Given the description of an element on the screen output the (x, y) to click on. 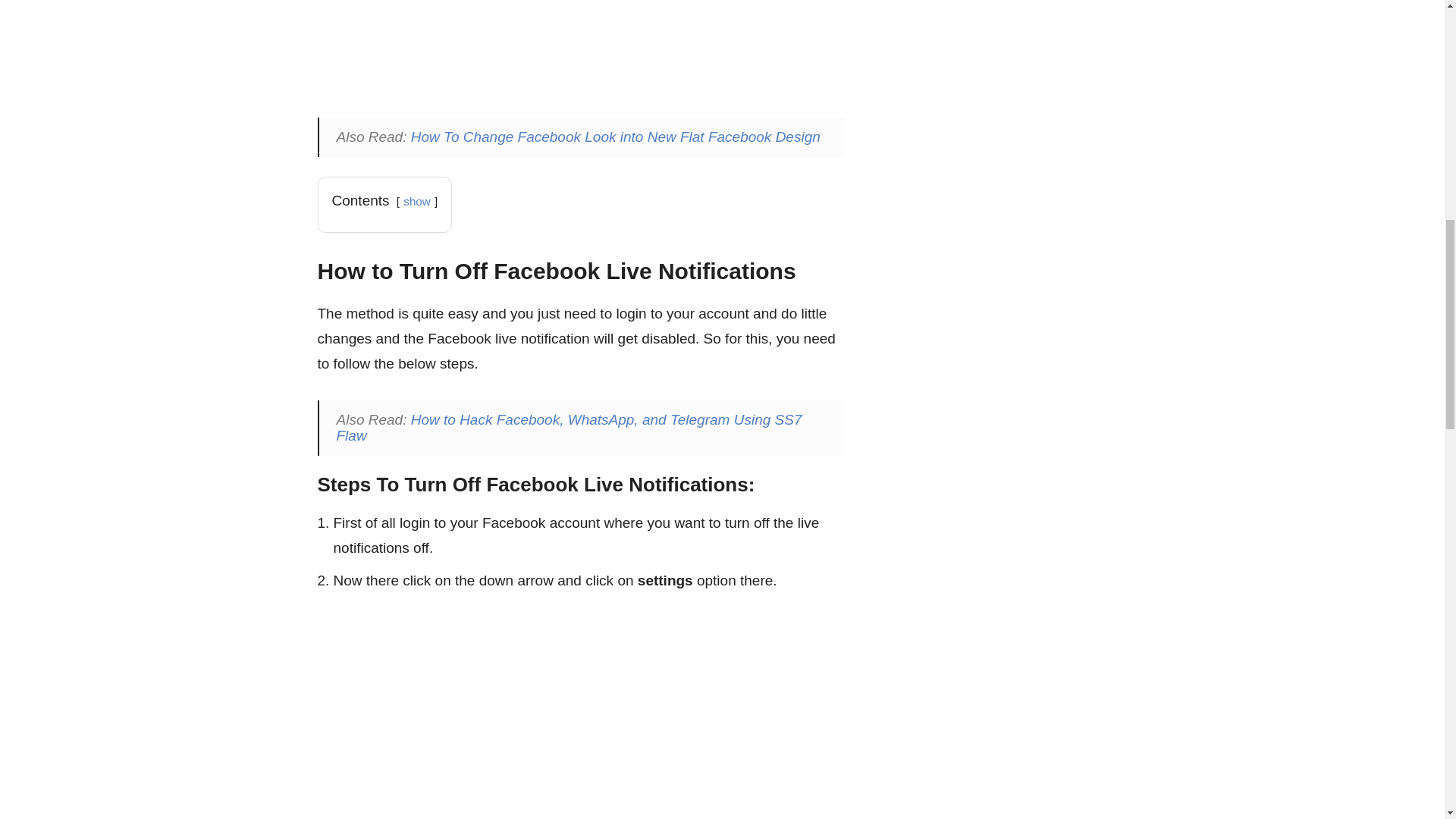
How to Hack Facebook, WhatsApp, and Telegram Using SS7 Flaw (569, 427)
How To Change Facebook Look into New Flat Facebook Design (615, 136)
show (416, 201)
